Given the description of an element on the screen output the (x, y) to click on. 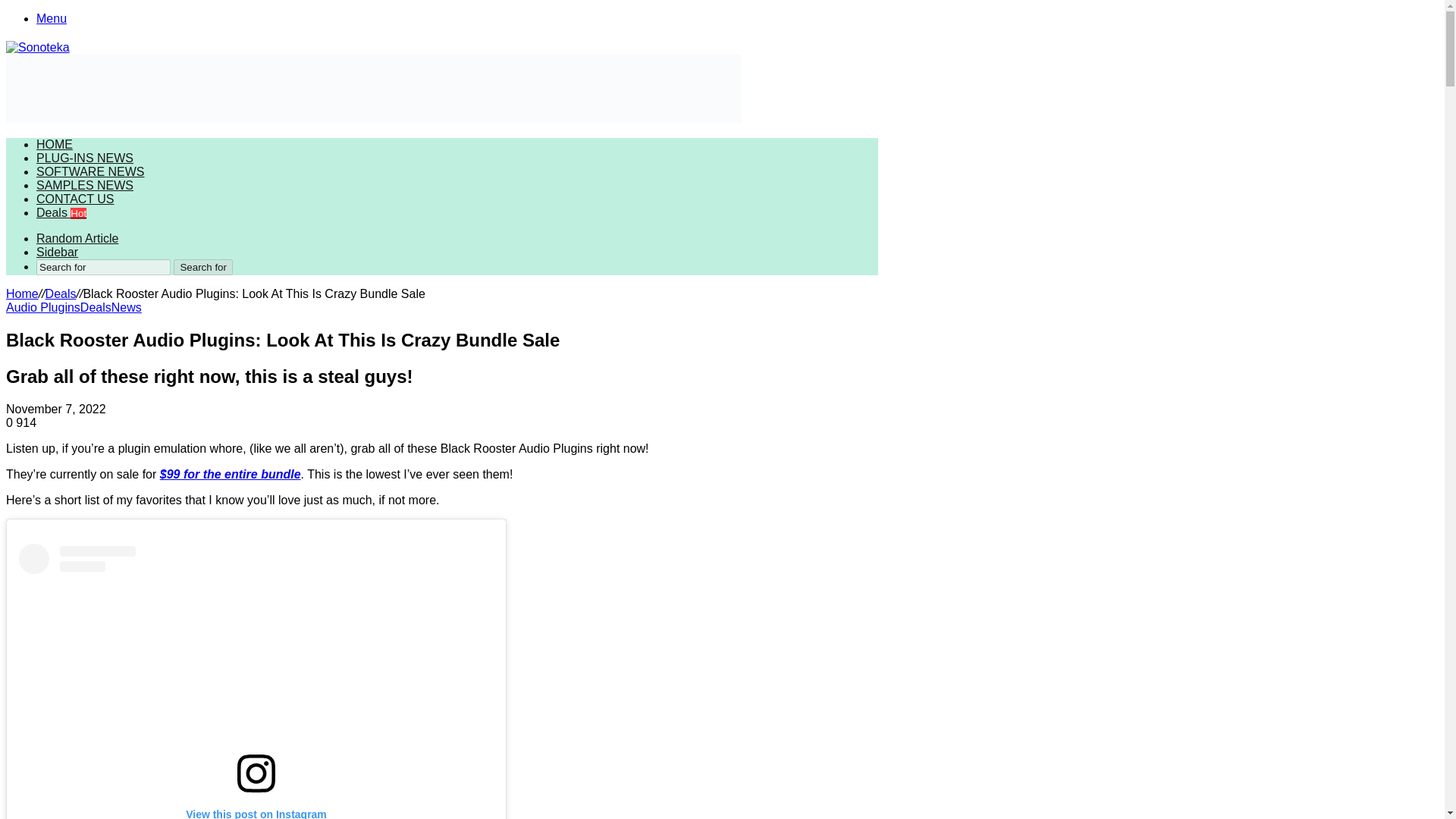
Music Software Bundles from Pluginboutique.com (373, 88)
Sidebar (57, 251)
Search for (103, 267)
News (126, 307)
View this post on Instagram (255, 681)
Home (22, 293)
Random Article (77, 237)
Deals Hot (60, 212)
SOFTWARE NEWS (90, 171)
Deals (96, 307)
PLUG-INS NEWS (84, 157)
CONTACT US (75, 198)
Audio Plugins (42, 307)
SAMPLES NEWS (84, 185)
Menu (51, 18)
